Given the description of an element on the screen output the (x, y) to click on. 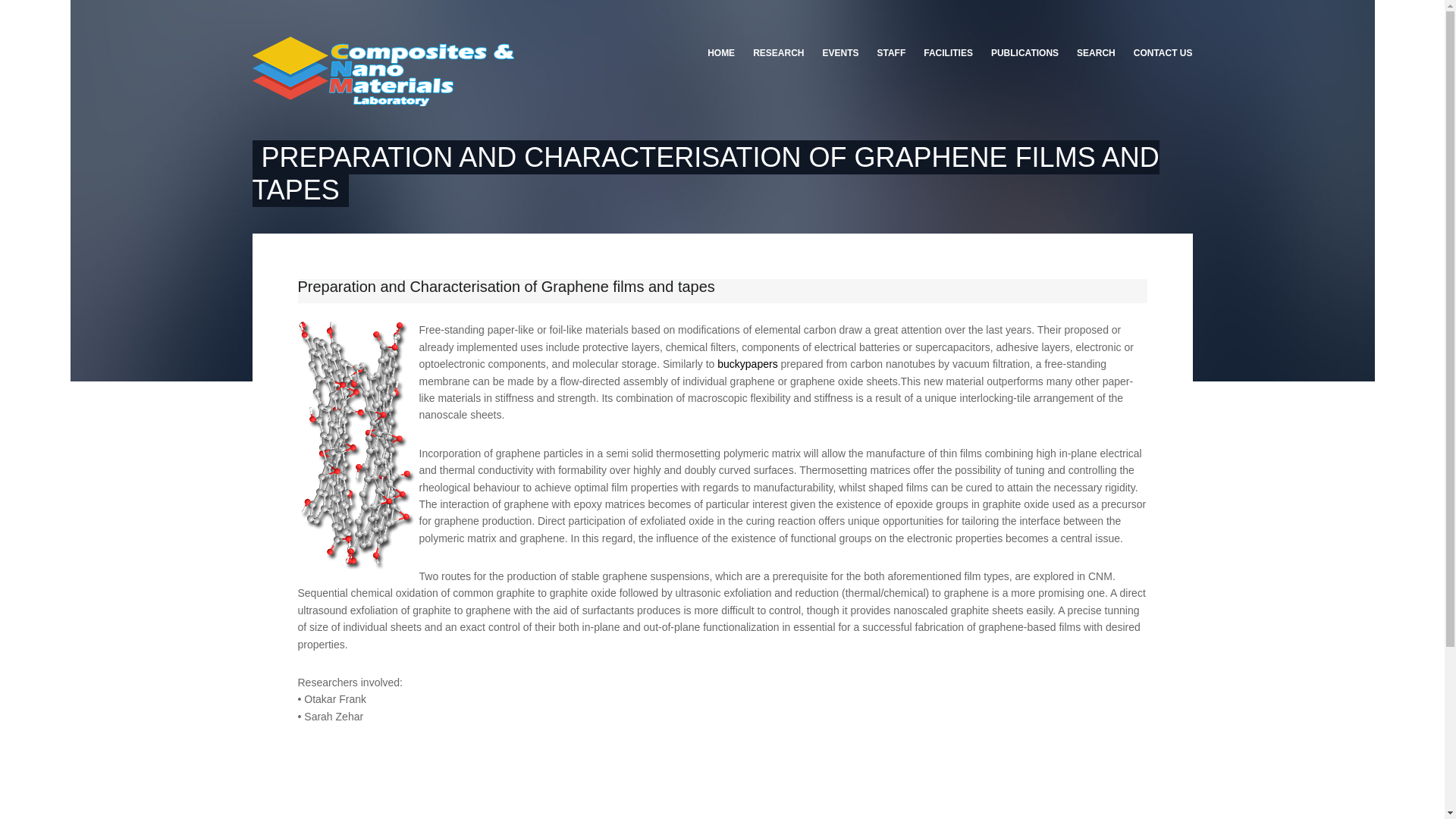
PUBLICATIONS (1024, 53)
FACILITIES (947, 53)
CONTACT US (1158, 53)
HOME (725, 53)
EVENTS (839, 53)
RESEARCH (778, 53)
STAFF (890, 53)
SEARCH (1095, 53)
 Home Menu Item (725, 53)
